Given the description of an element on the screen output the (x, y) to click on. 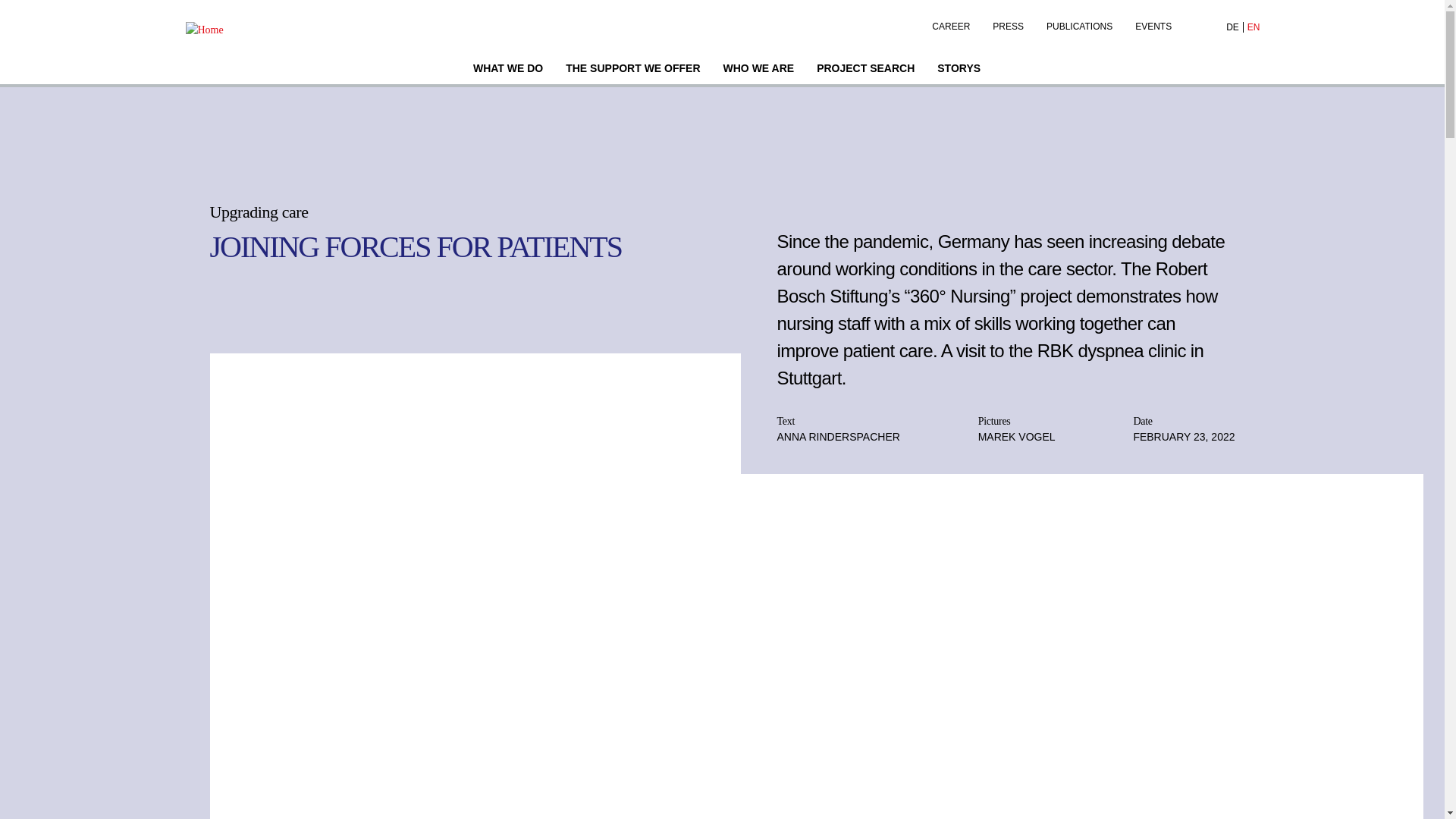
PUBLICATIONS (1079, 22)
WHO WE ARE (758, 69)
THE SUPPORT WE OFFER (632, 69)
English (1253, 27)
EN (1253, 27)
Home (239, 29)
PRESS (1008, 22)
DE (1233, 27)
Search (1196, 27)
CAREER (950, 22)
German (1233, 27)
STORYS (958, 69)
WHAT WE DO (507, 69)
EVENTS (1153, 22)
